Given the description of an element on the screen output the (x, y) to click on. 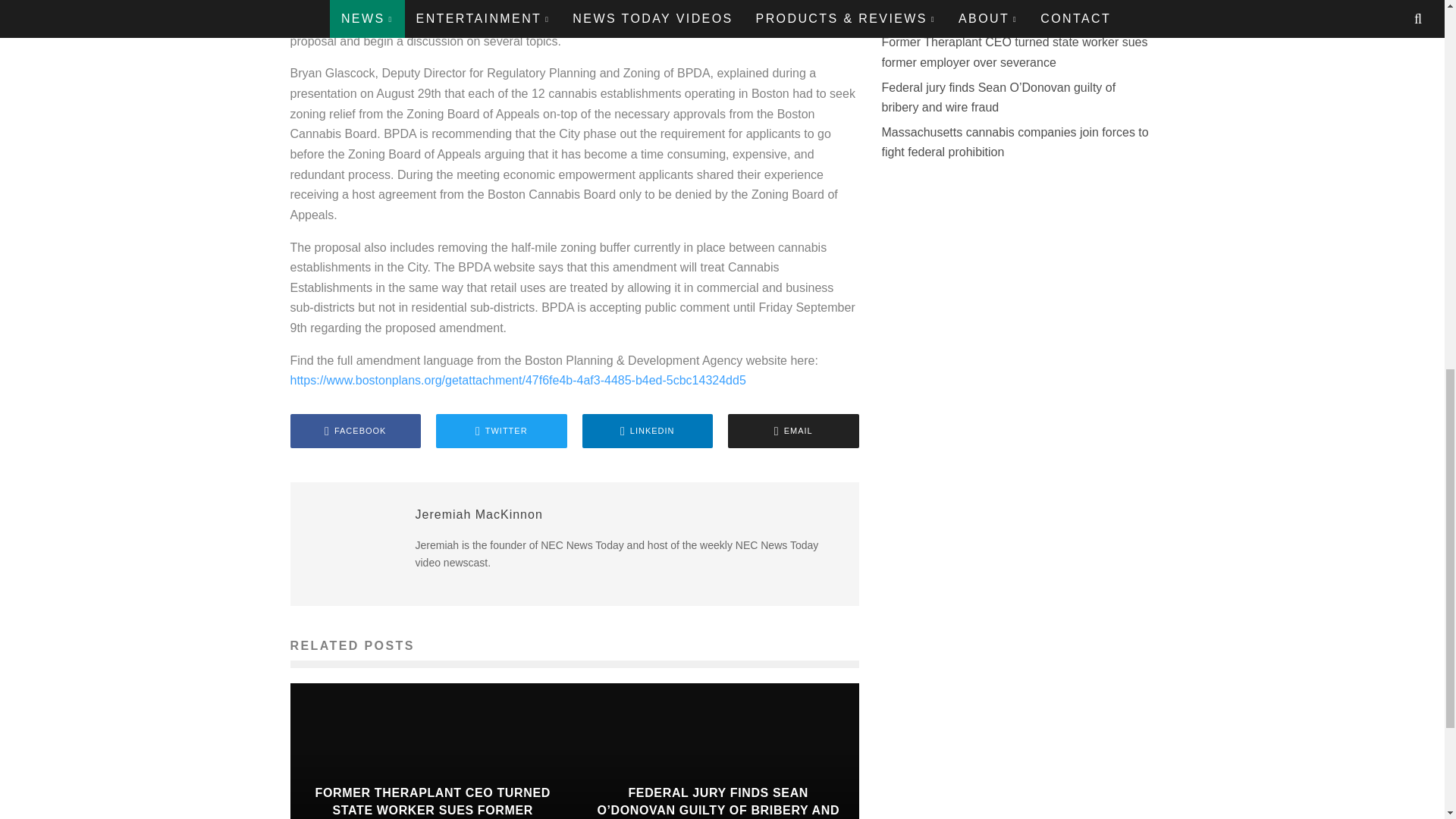
FACEBOOK (354, 430)
Jeremiah MacKinnon (478, 513)
EMAIL (793, 430)
LINKEDIN (647, 430)
TWITTER (501, 430)
